Given the description of an element on the screen output the (x, y) to click on. 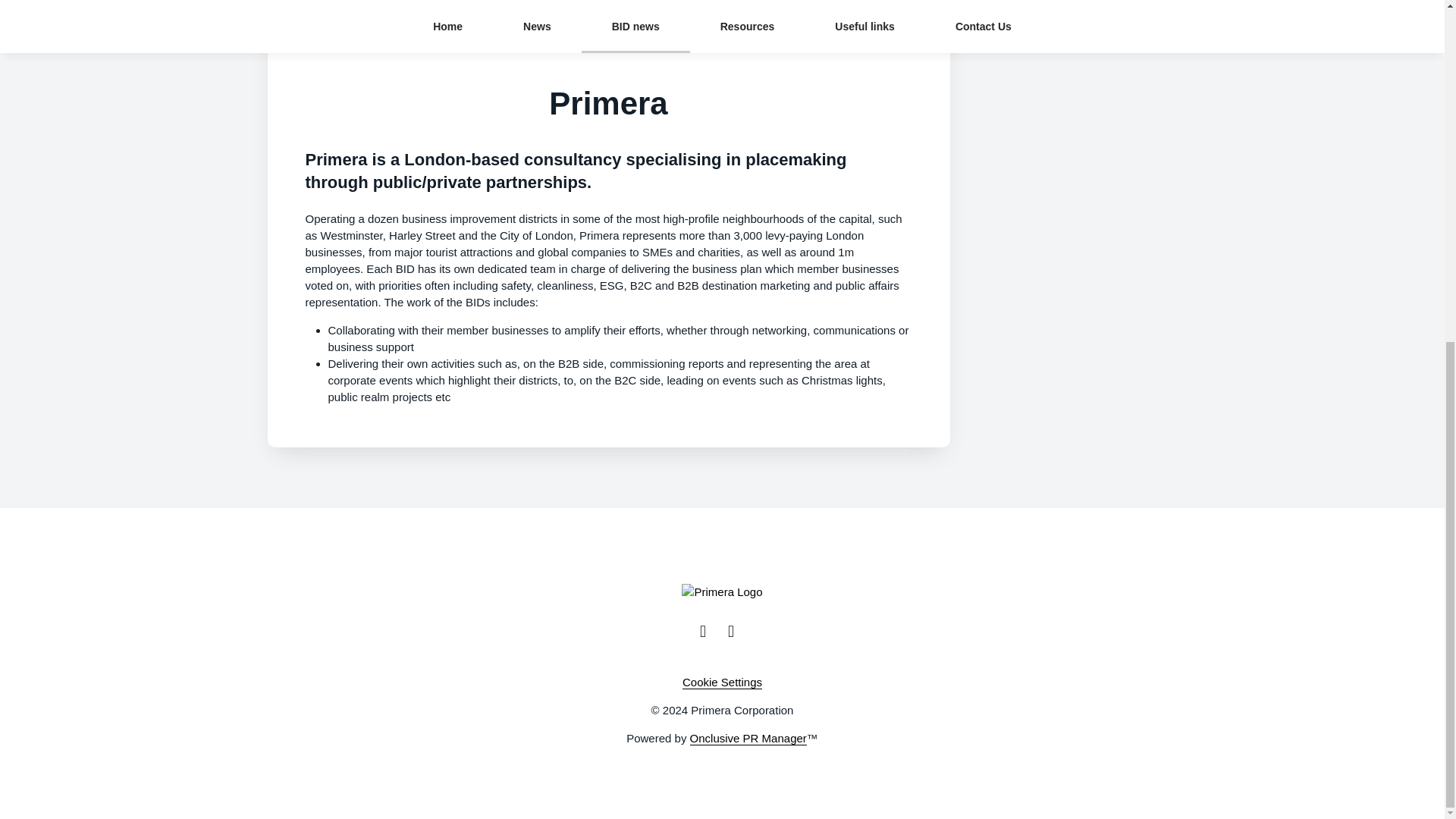
Cookie Settings (721, 682)
Twitter (708, 631)
LinkedIn (736, 631)
Primera Logo (721, 591)
Onclusive PR Manager (748, 738)
